Given the description of an element on the screen output the (x, y) to click on. 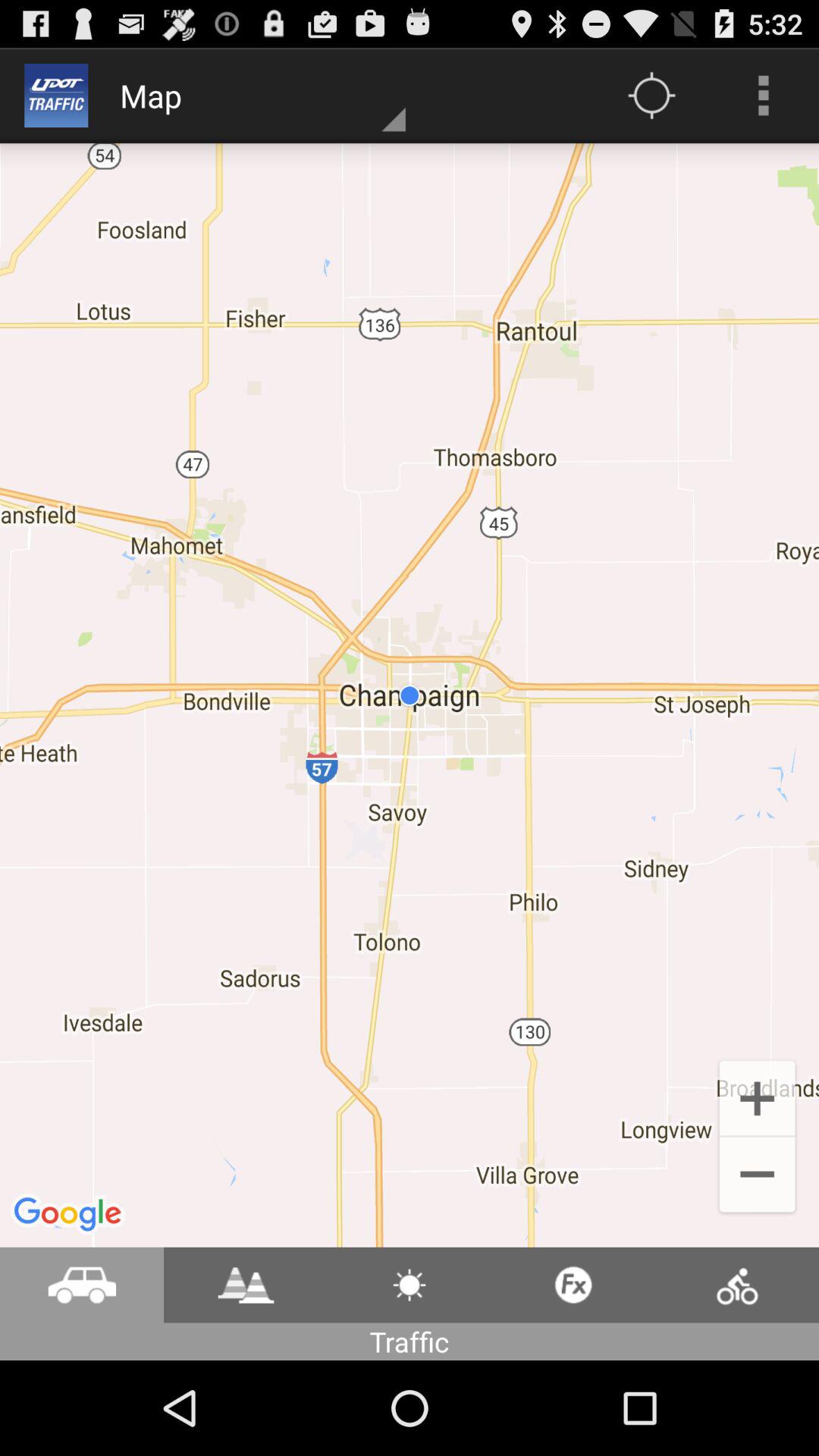
booking to car (81, 1284)
